Given the description of an element on the screen output the (x, y) to click on. 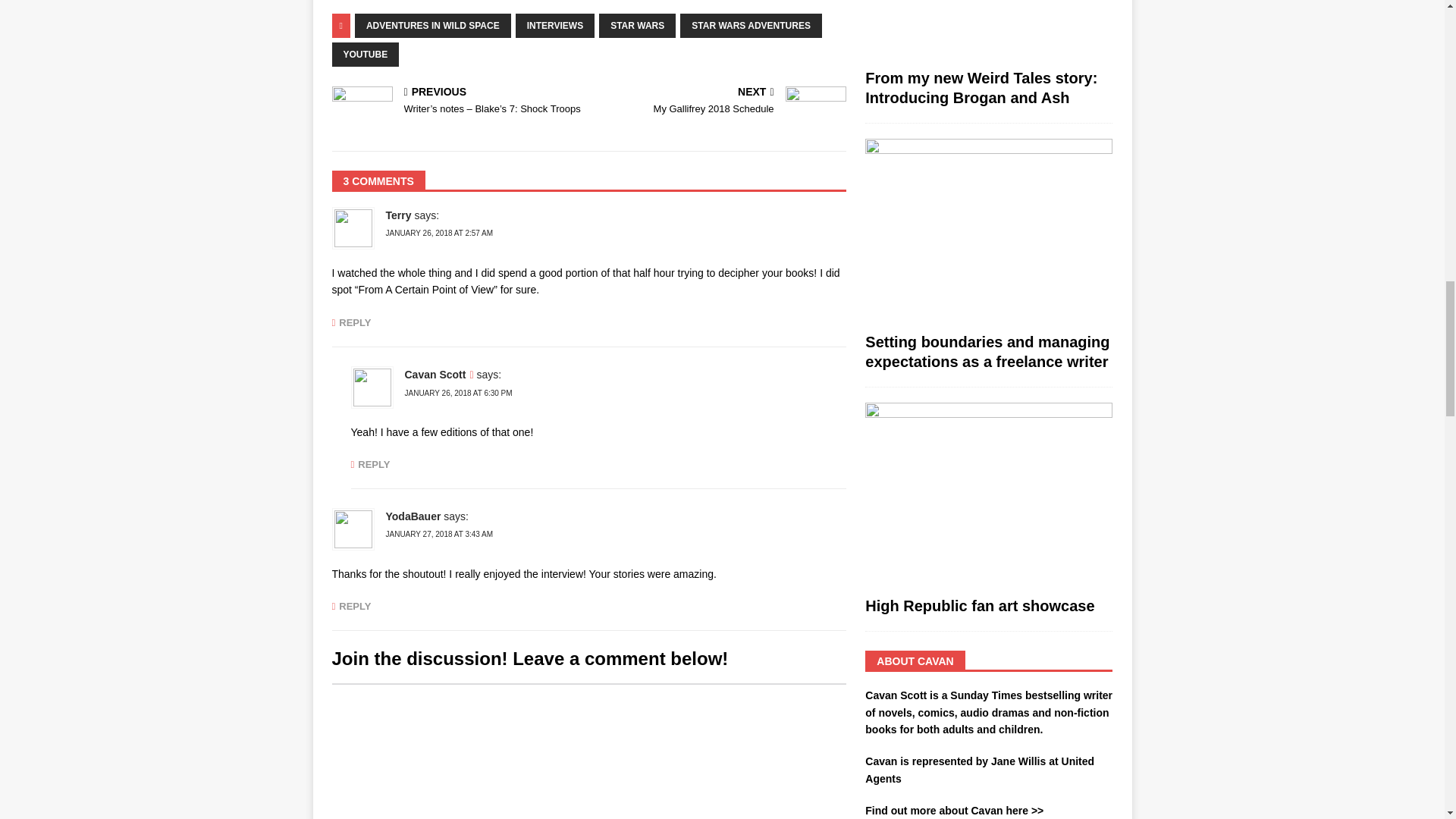
Comment Form (588, 751)
ADVENTURES IN WILD SPACE (433, 25)
INTERVIEWS (554, 25)
STAR WARS (636, 25)
STAR WARS ADVENTURES (750, 25)
YOUTUBE (364, 54)
